Given the description of an element on the screen output the (x, y) to click on. 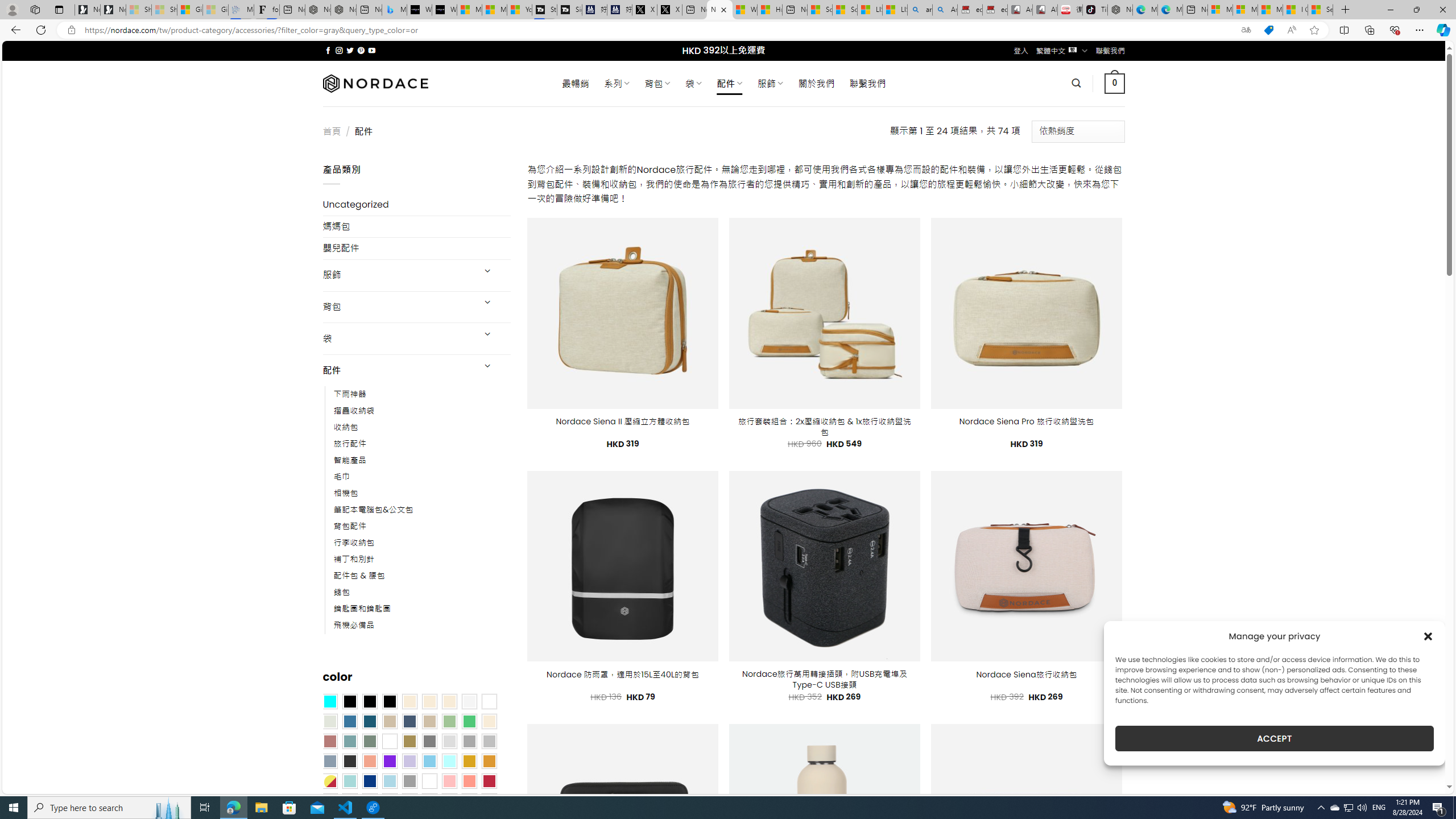
Show translate options (1245, 29)
Class: cmplz-close (1428, 636)
Uncategorized (416, 204)
Cream (449, 701)
amazon - Search (919, 9)
